Given the description of an element on the screen output the (x, y) to click on. 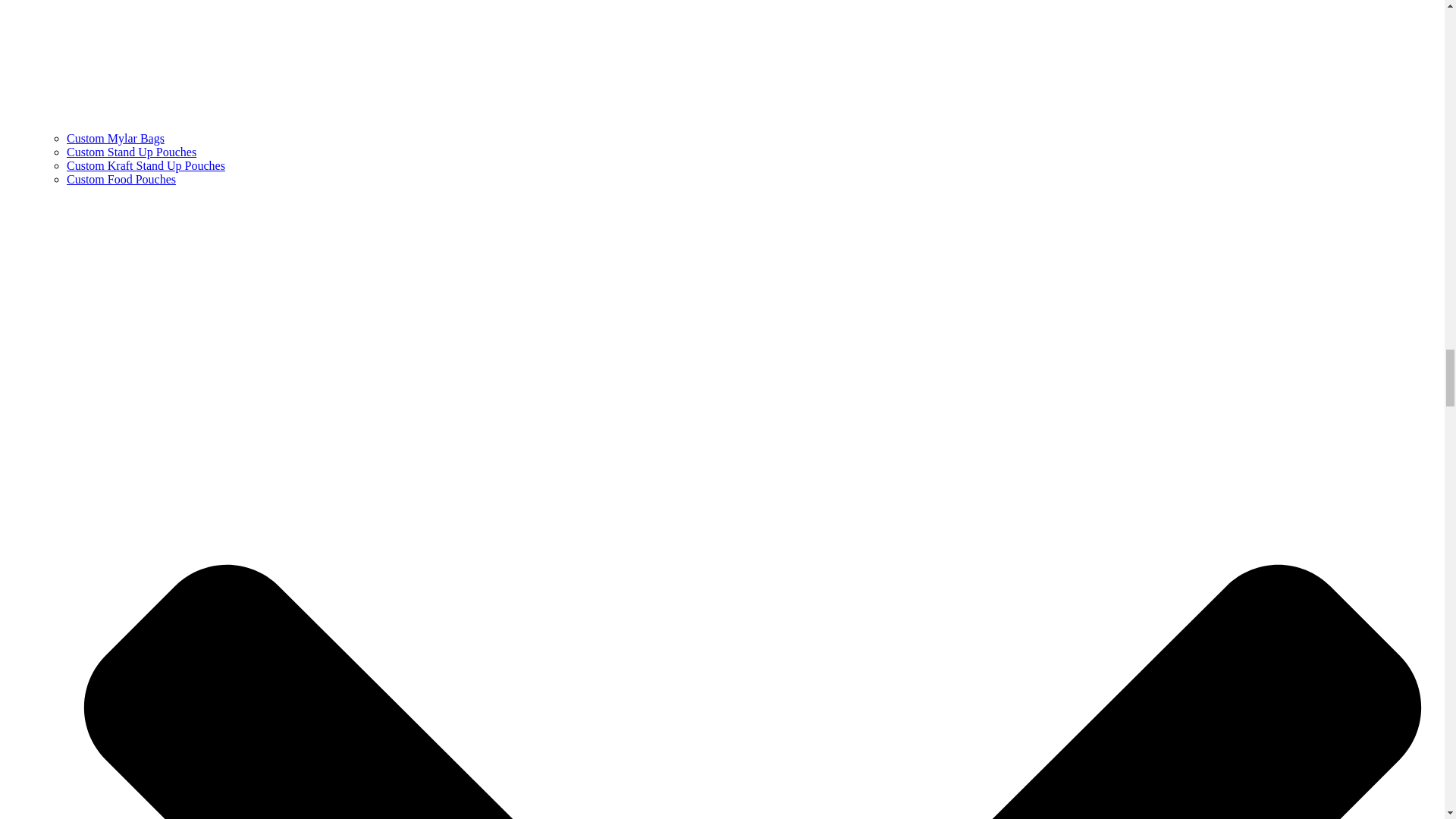
Custom Kraft Stand Up Pouches (145, 164)
Custom Stand Up Pouches (131, 151)
Custom Mylar Bags (115, 137)
